Given the description of an element on the screen output the (x, y) to click on. 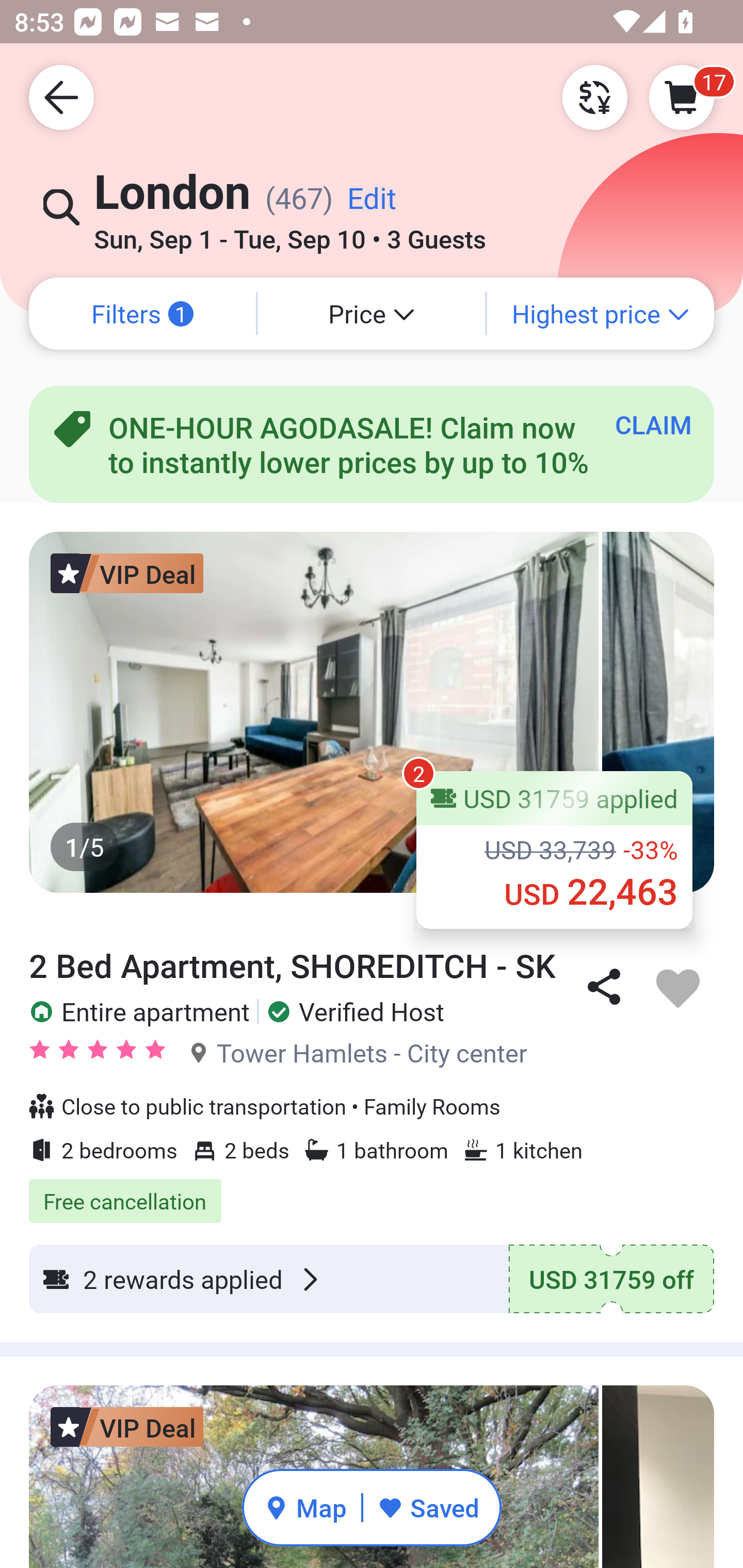
Filters 1 (141, 313)
Price (371, 313)
Highest price (600, 313)
CLAIM (653, 424)
VIP Deal (126, 572)
1/5 (371, 711)
USD 31759 applied ‪USD 33,739 -33% ‪USD 22,463 2 (554, 849)
Free cancellation (371, 1190)
2 rewards applied USD 31759 off (371, 1278)
VIP Deal (126, 1427)
Map (305, 1507)
Saved (428, 1507)
